Given the description of an element on the screen output the (x, y) to click on. 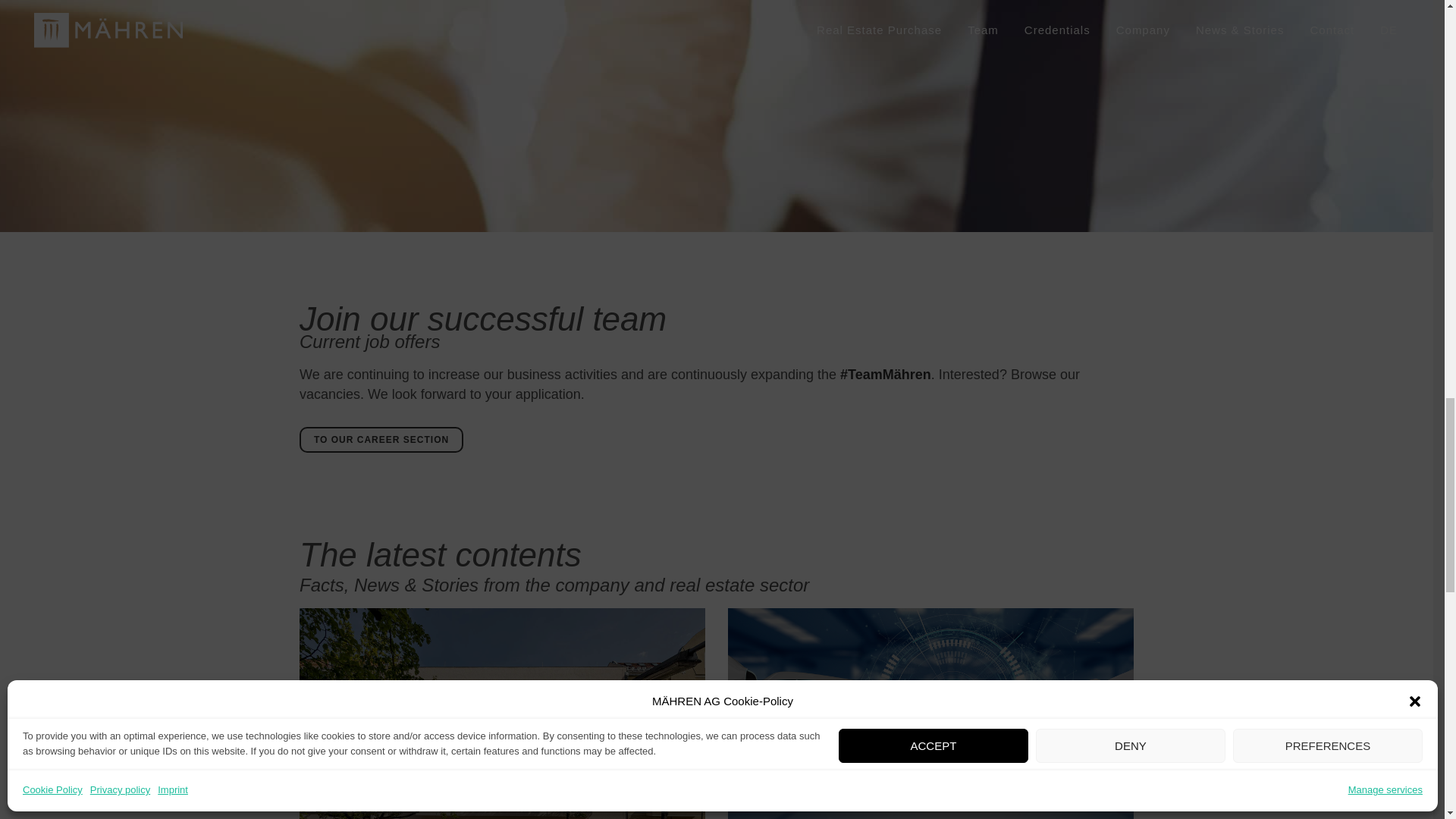
Artificial Intelligence (931, 713)
